Given the description of an element on the screen output the (x, y) to click on. 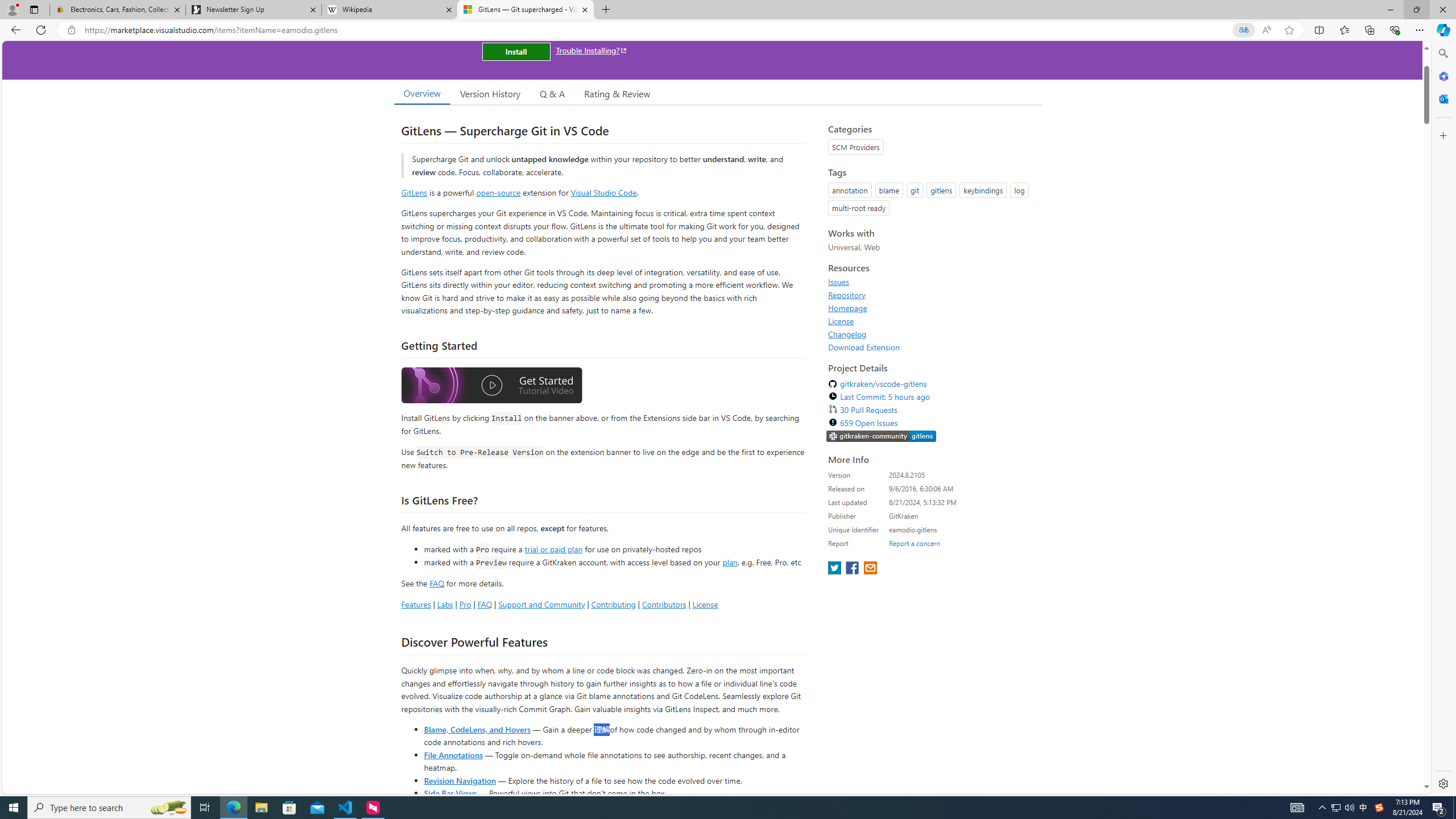
Side Bar Views (449, 792)
Issues (931, 281)
Issues (838, 281)
Repository (931, 294)
Wikipedia (390, 9)
License (931, 320)
trial or paid plan (553, 548)
Visual Studio Code (603, 192)
Contributors (663, 603)
Copilot (Ctrl+Shift+.) (1442, 29)
Search (1442, 53)
